Given the description of an element on the screen output the (x, y) to click on. 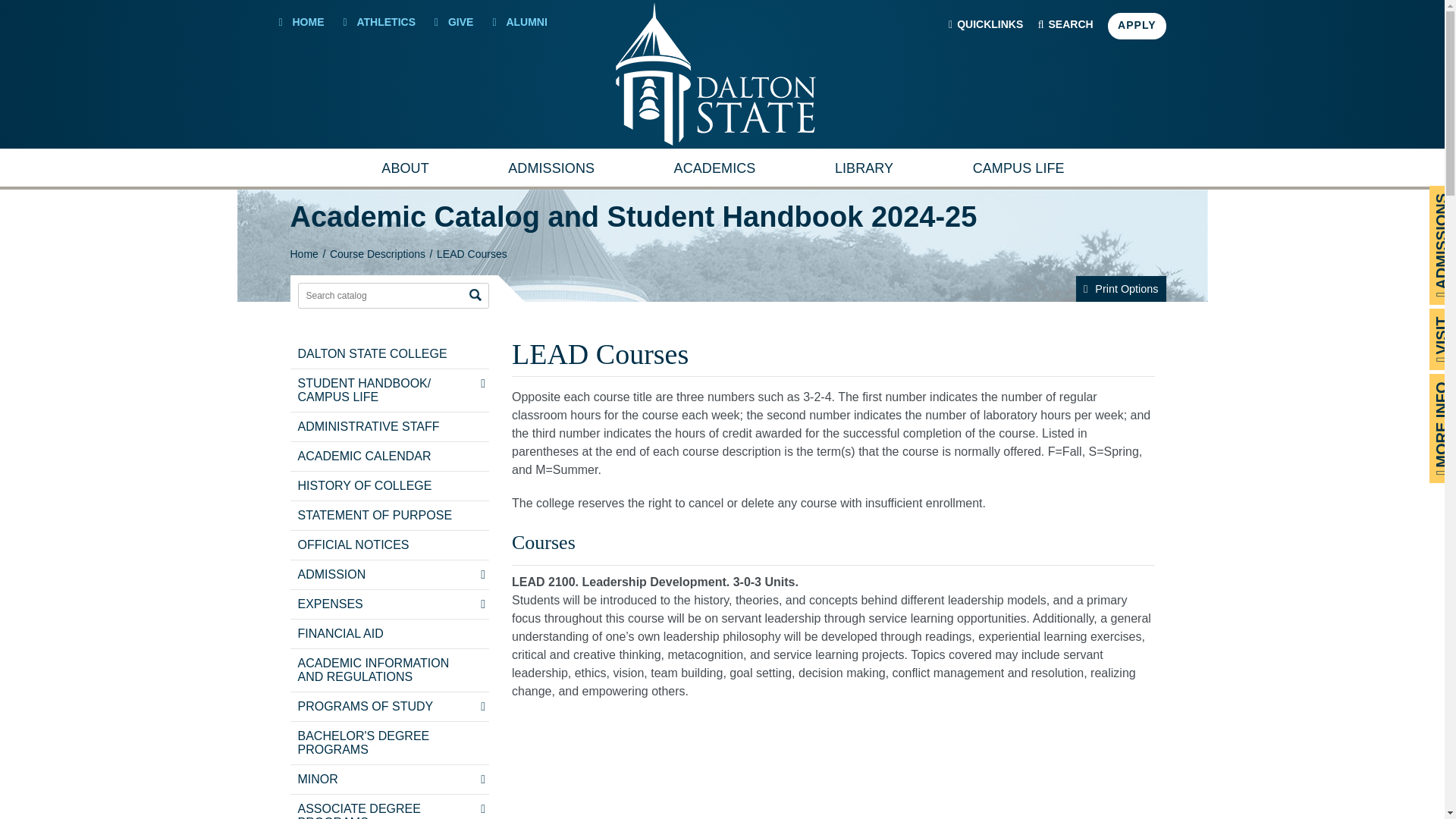
LIBRARY (864, 171)
QUICKLINKS (986, 27)
DALTON STATE COLLEGE (379, 353)
ALUMNI (519, 21)
Search (475, 294)
Print Options (1120, 289)
ADMISSIONS (551, 171)
GIVE (453, 21)
APPLY (1137, 26)
Search (475, 294)
SEARCH (1065, 27)
HOME (301, 21)
CAMPUS LIFE (1018, 171)
Home (303, 254)
ABOUT (404, 171)
